Given the description of an element on the screen output the (x, y) to click on. 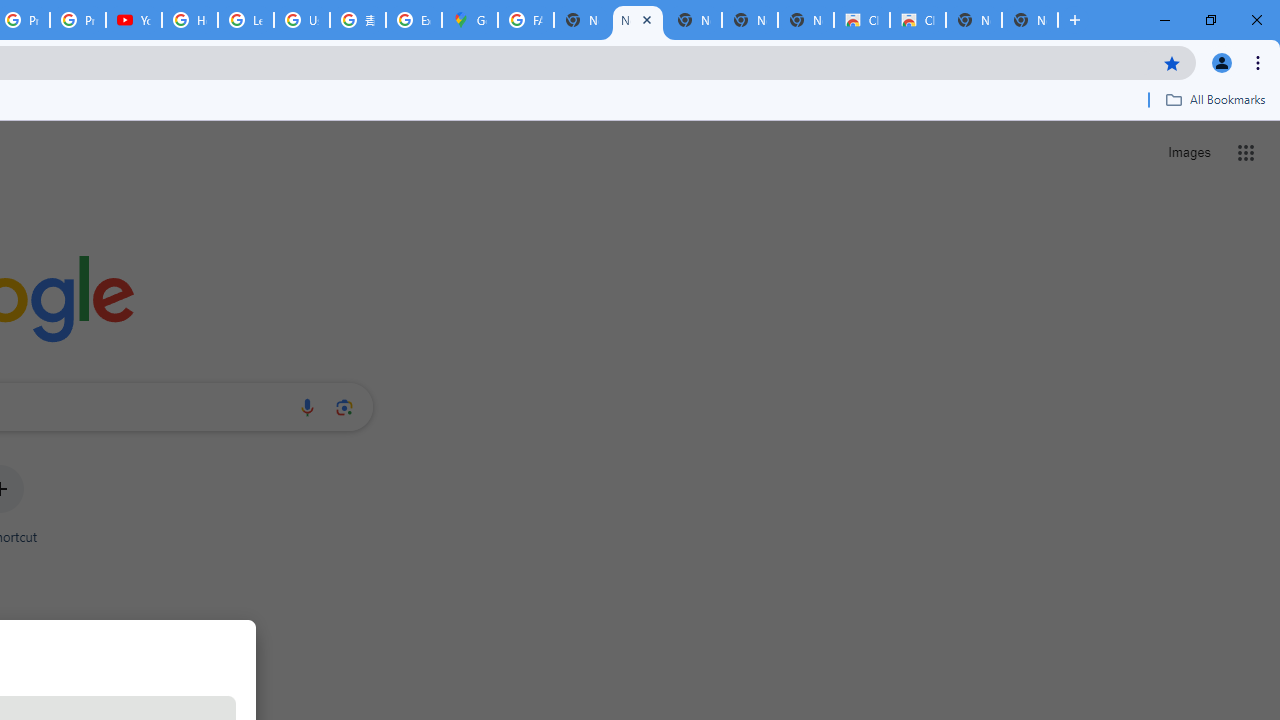
Explore new street-level details - Google Maps Help (413, 20)
Classic Blue - Chrome Web Store (861, 20)
How Chrome protects your passwords - Google Chrome Help (189, 20)
New Tab (1030, 20)
Classic Blue - Chrome Web Store (917, 20)
Google Maps (469, 20)
